Given the description of an element on the screen output the (x, y) to click on. 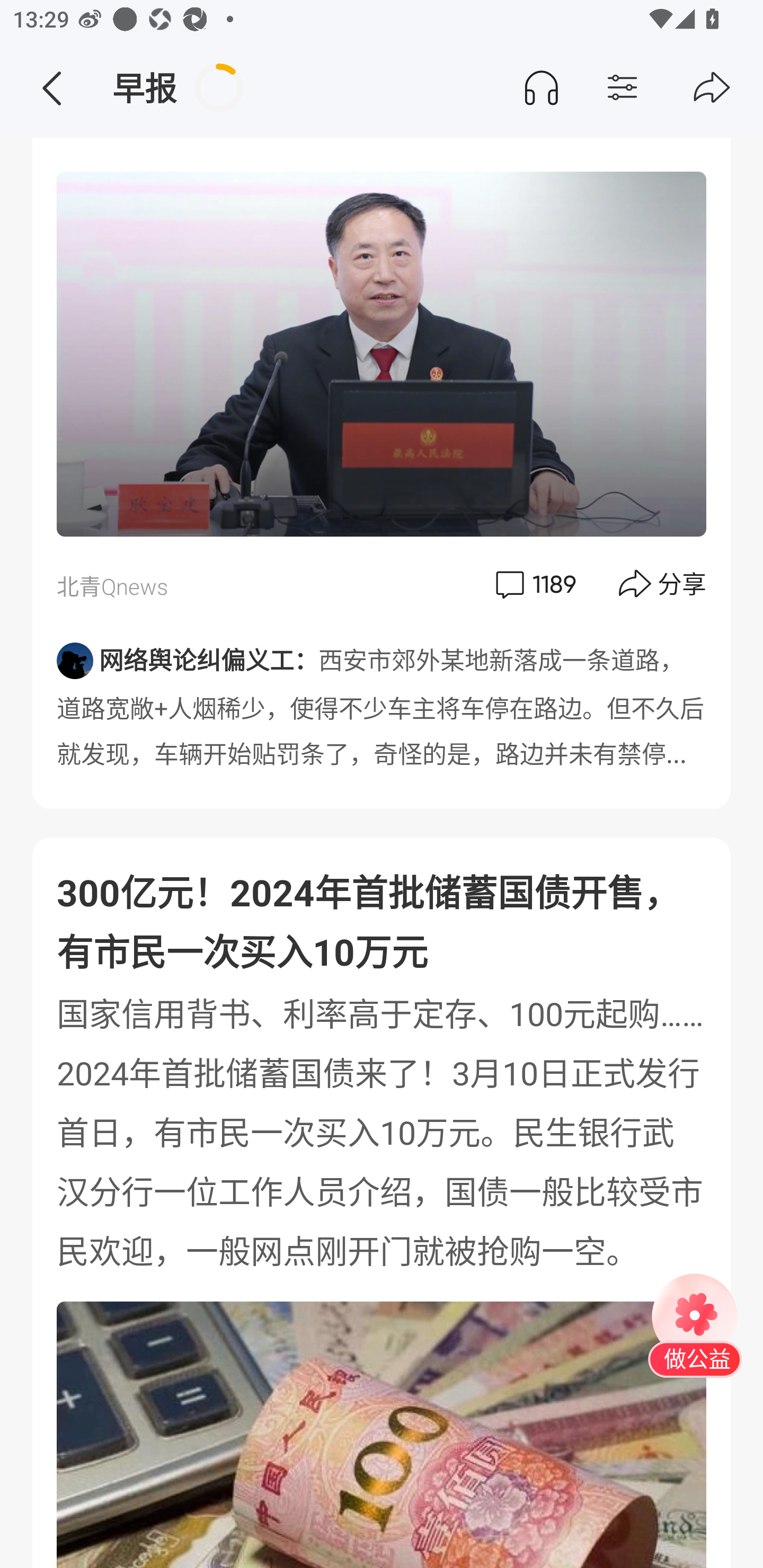
 (50, 87)
 (656, 87)
 (711, 87)
评论  1189 (533, 584)
 分享 (663, 584)
